Given the description of an element on the screen output the (x, y) to click on. 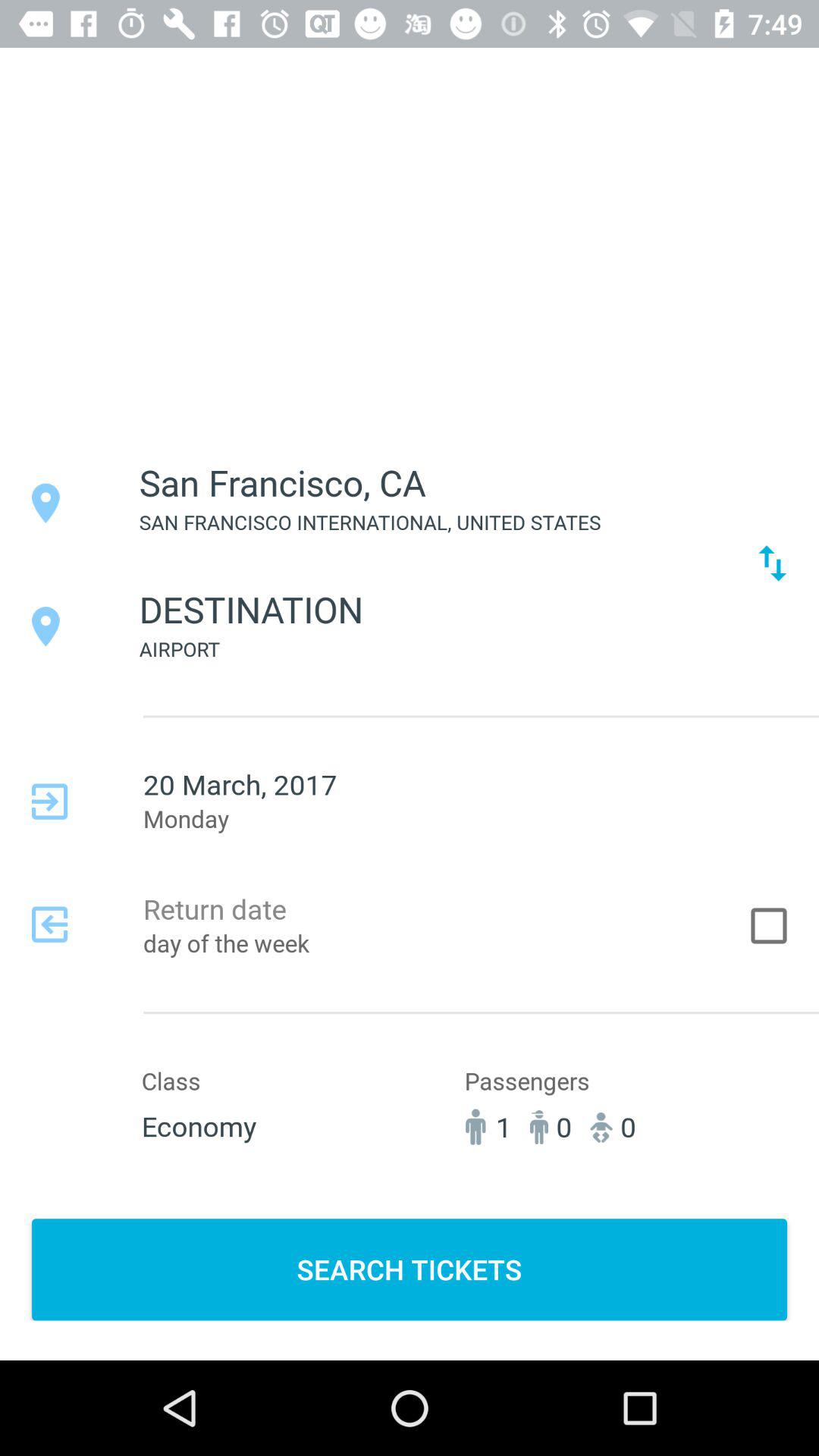
launch the icon next to san francisco international icon (772, 563)
